Given the description of an element on the screen output the (x, y) to click on. 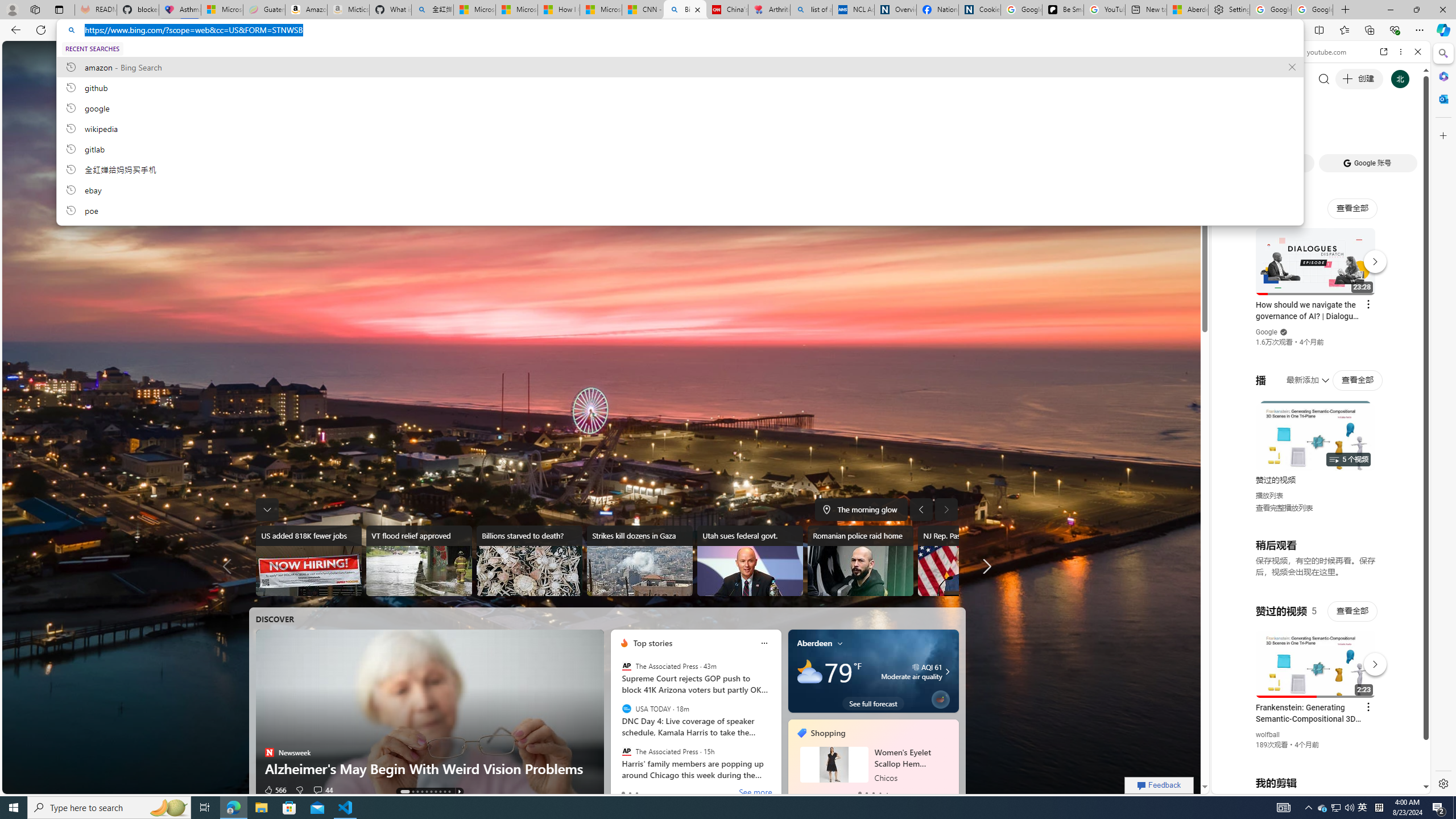
Bing (684, 9)
Search Filter, WEB (1230, 129)
USA TODAY (626, 709)
Google (1320, 281)
Search videos from youtube.com (1299, 373)
Search (1442, 53)
Aberdeen, Hong Kong SAR hourly forecast | Microsoft Weather (1186, 9)
amazon, recent searches from history (679, 66)
NJ Rep. Pascrell dies (970, 560)
Actions for this site (1371, 661)
Side bar (1443, 418)
Open link in new tab (1383, 51)
